Given the description of an element on the screen output the (x, y) to click on. 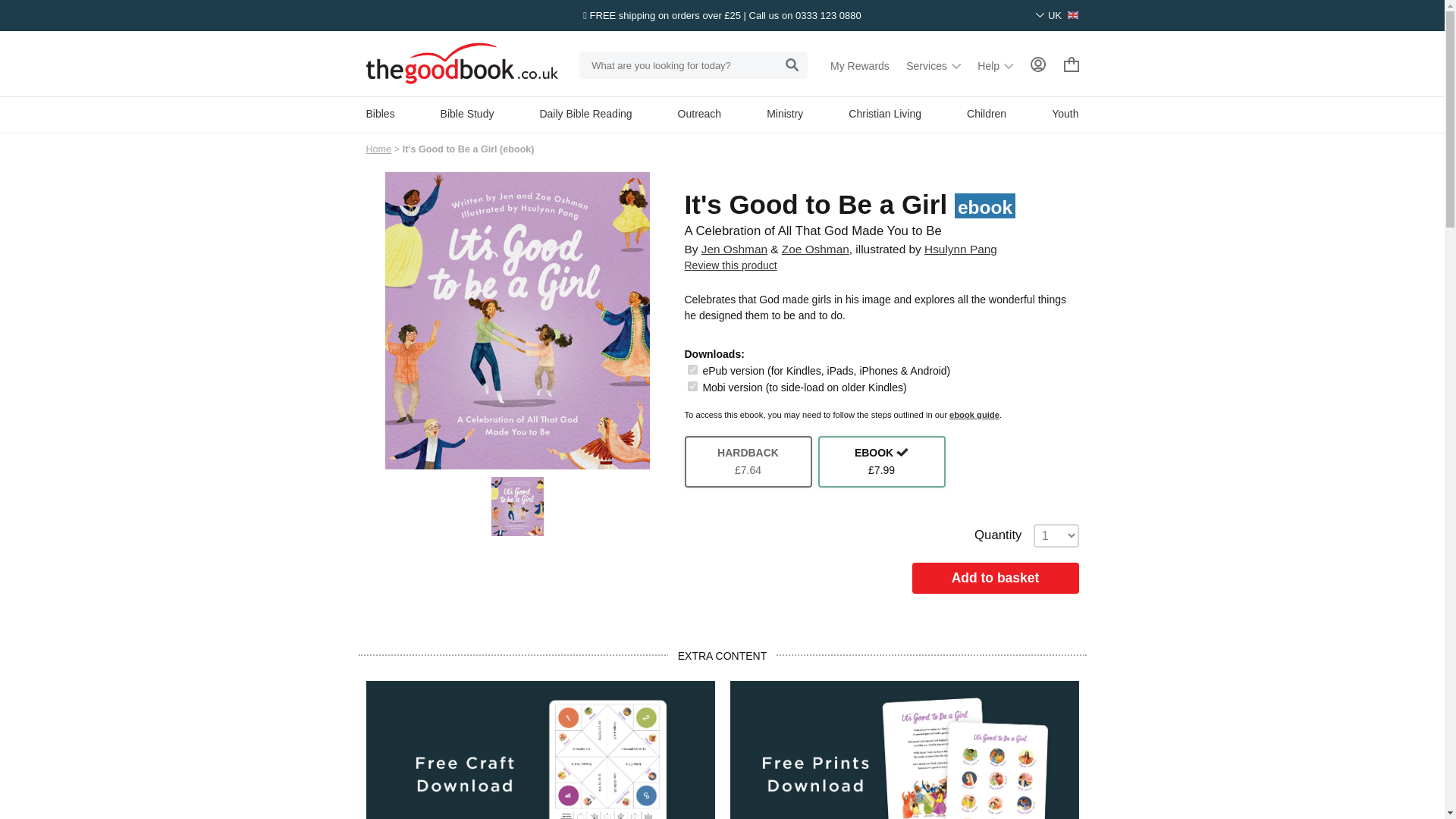
Help (994, 65)
1 (692, 386)
Go to Home Page (378, 149)
UK (1056, 14)
My Rewards (859, 65)
Sign in (1037, 65)
Services (932, 65)
Bibles (379, 113)
Sign in (1037, 64)
1 (692, 369)
